Given the description of an element on the screen output the (x, y) to click on. 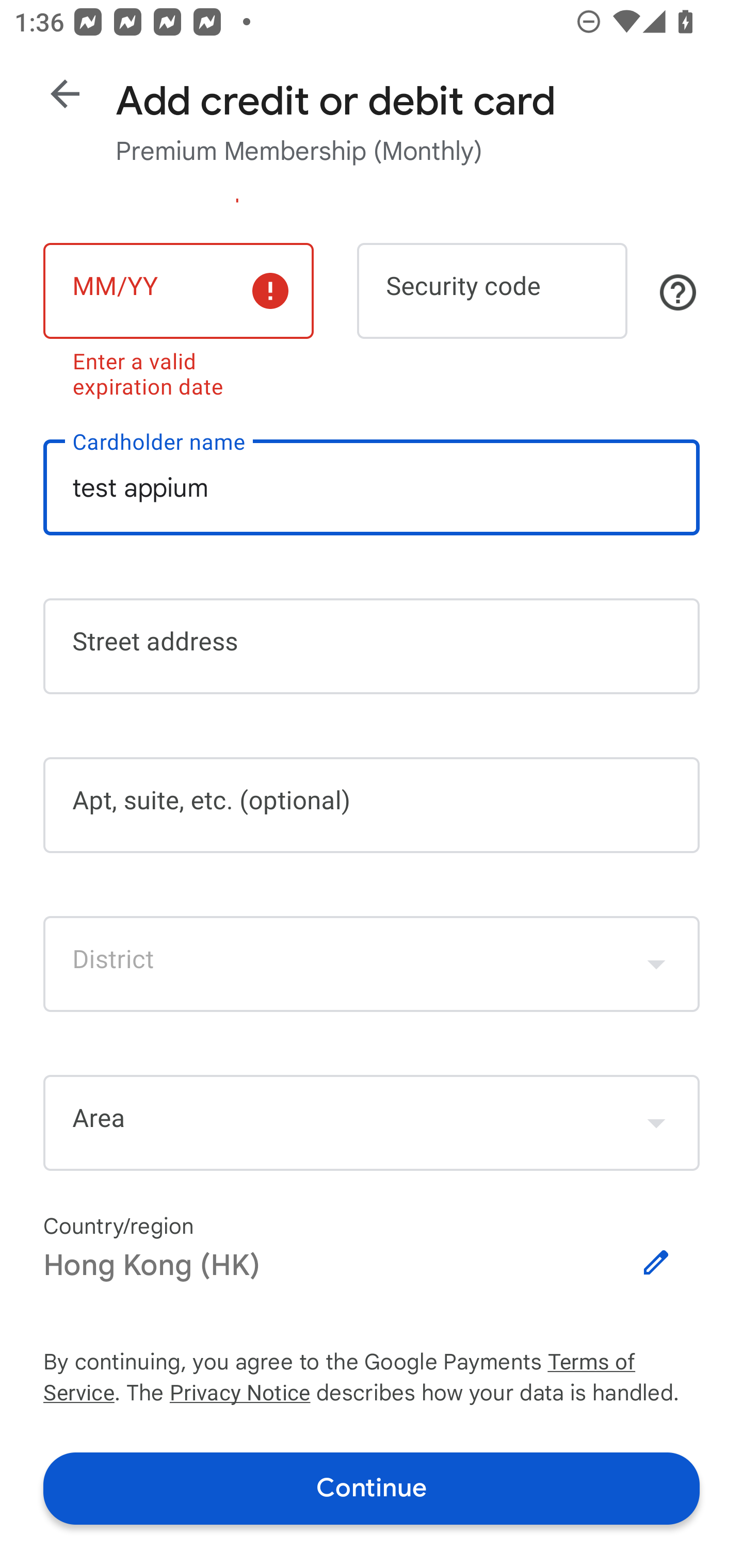
Back (64, 93)
Expiration date, 2 digit month, 2 digit year (178, 290)
Security code (492, 290)
Security code help (677, 292)
test appium (371, 486)
Street address (371, 646)
Apt, suite, etc. (optional) (371, 804)
District (371, 963)
Show dropdown menu (655, 963)
Area (371, 1123)
Show dropdown menu (655, 1122)
country edit button (655, 1262)
Terms of Service (623, 1362)
Privacy Notice (239, 1394)
Continue (371, 1487)
